Given the description of an element on the screen output the (x, y) to click on. 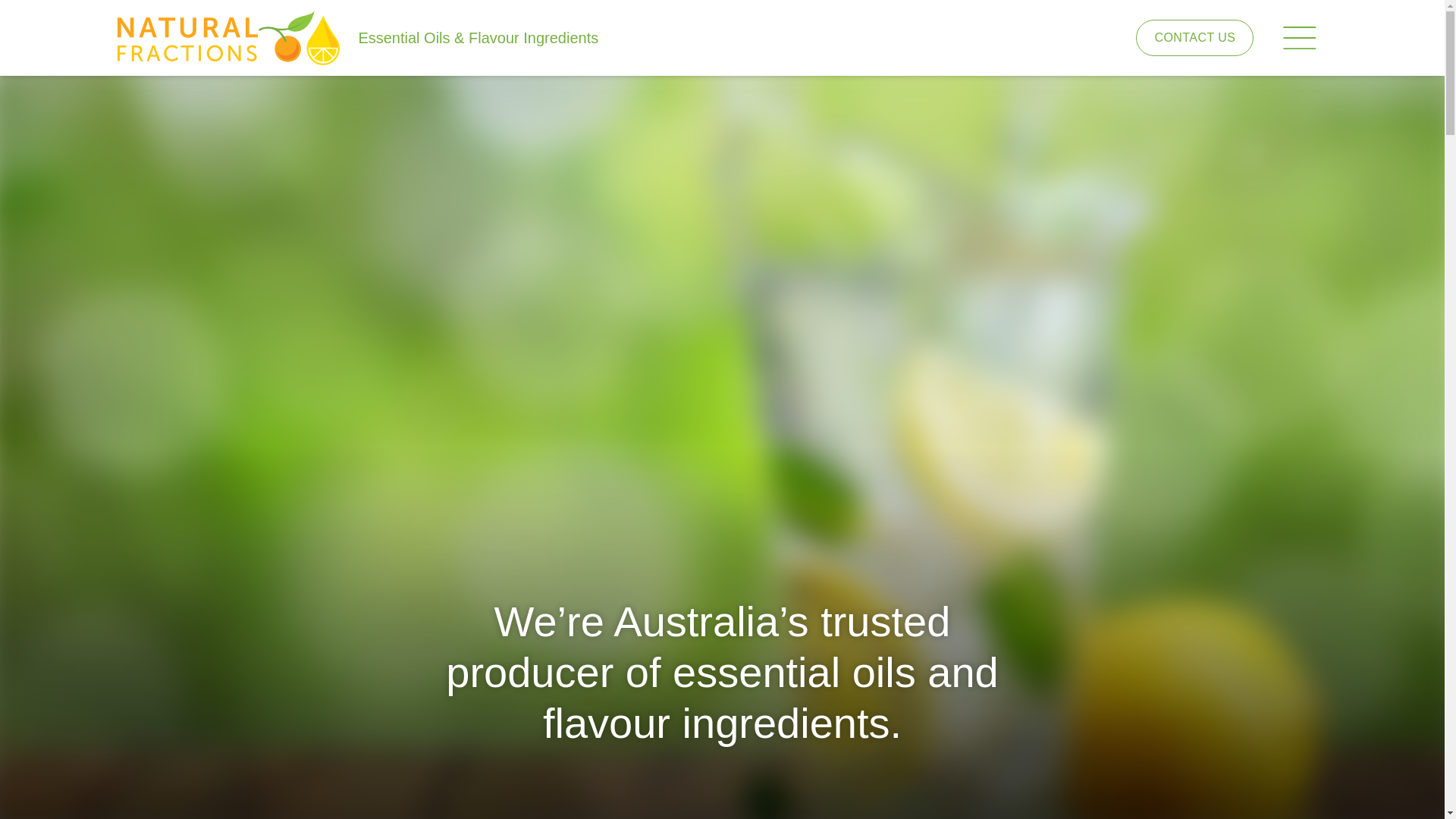
CONTACT US Element type: text (1194, 37)
